Given the description of an element on the screen output the (x, y) to click on. 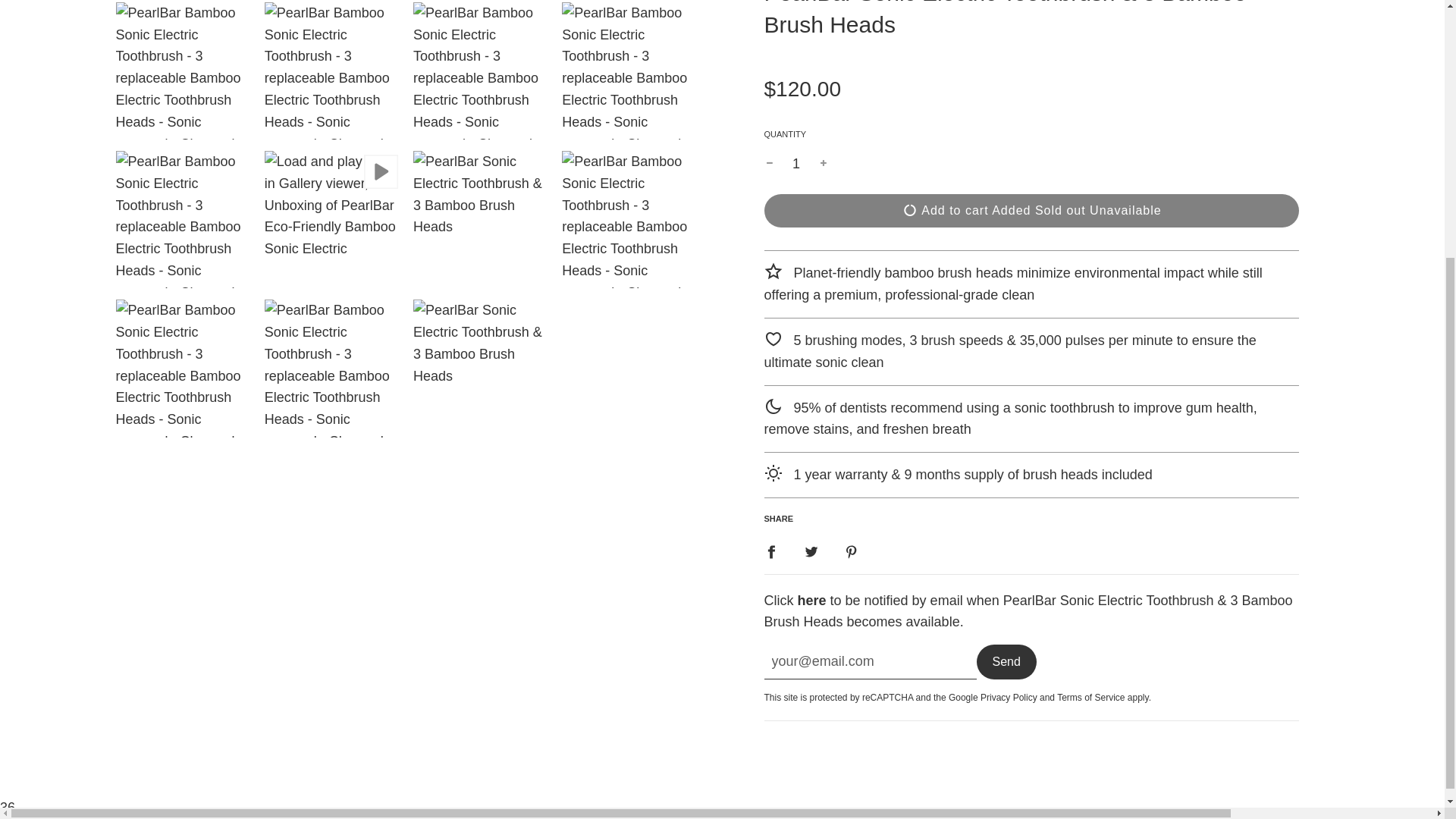
Send (1006, 661)
1 (796, 164)
